Given the description of an element on the screen output the (x, y) to click on. 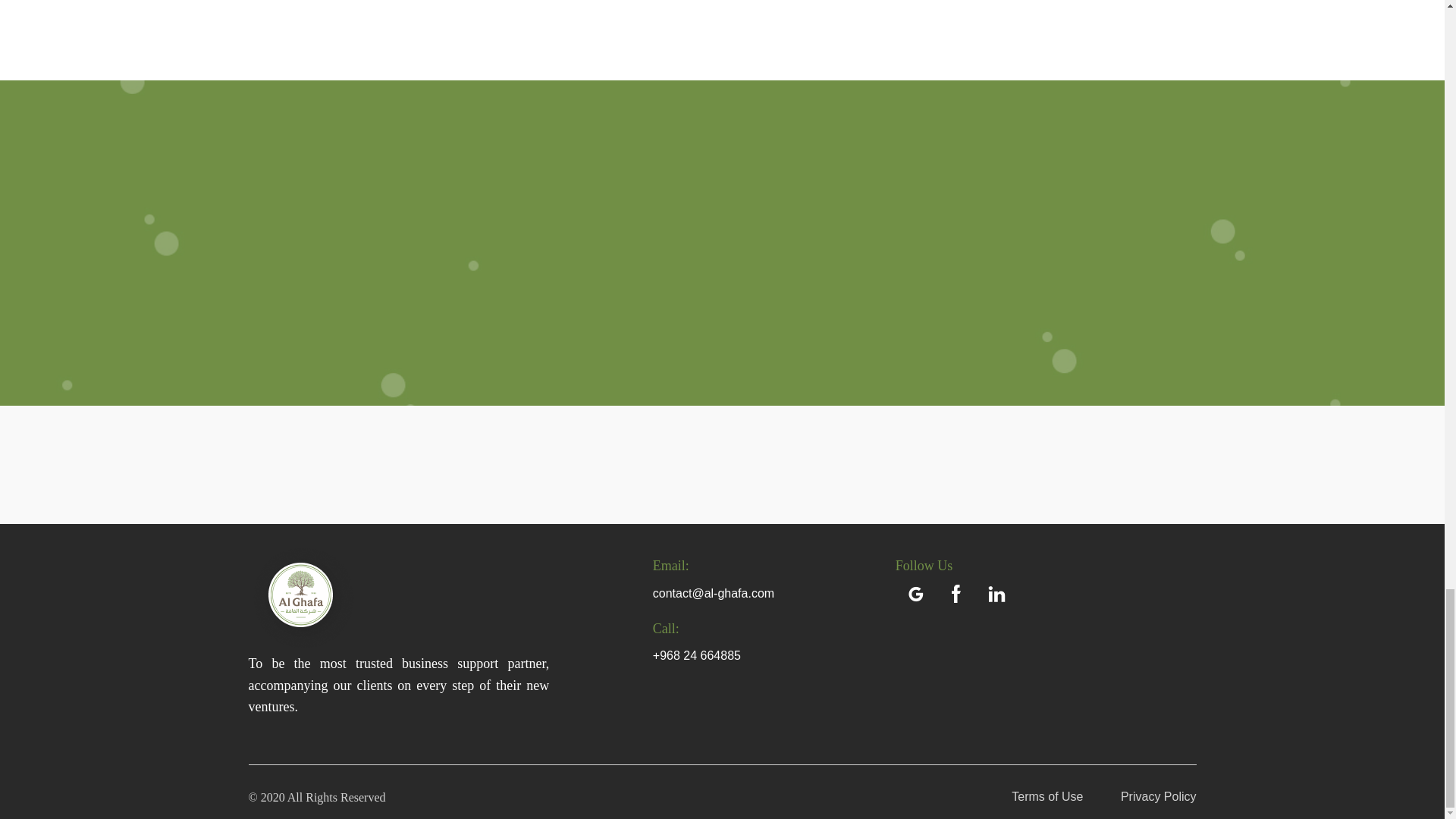
Terms of Use (1031, 796)
Privacy Policy (1141, 796)
